Given the description of an element on the screen output the (x, y) to click on. 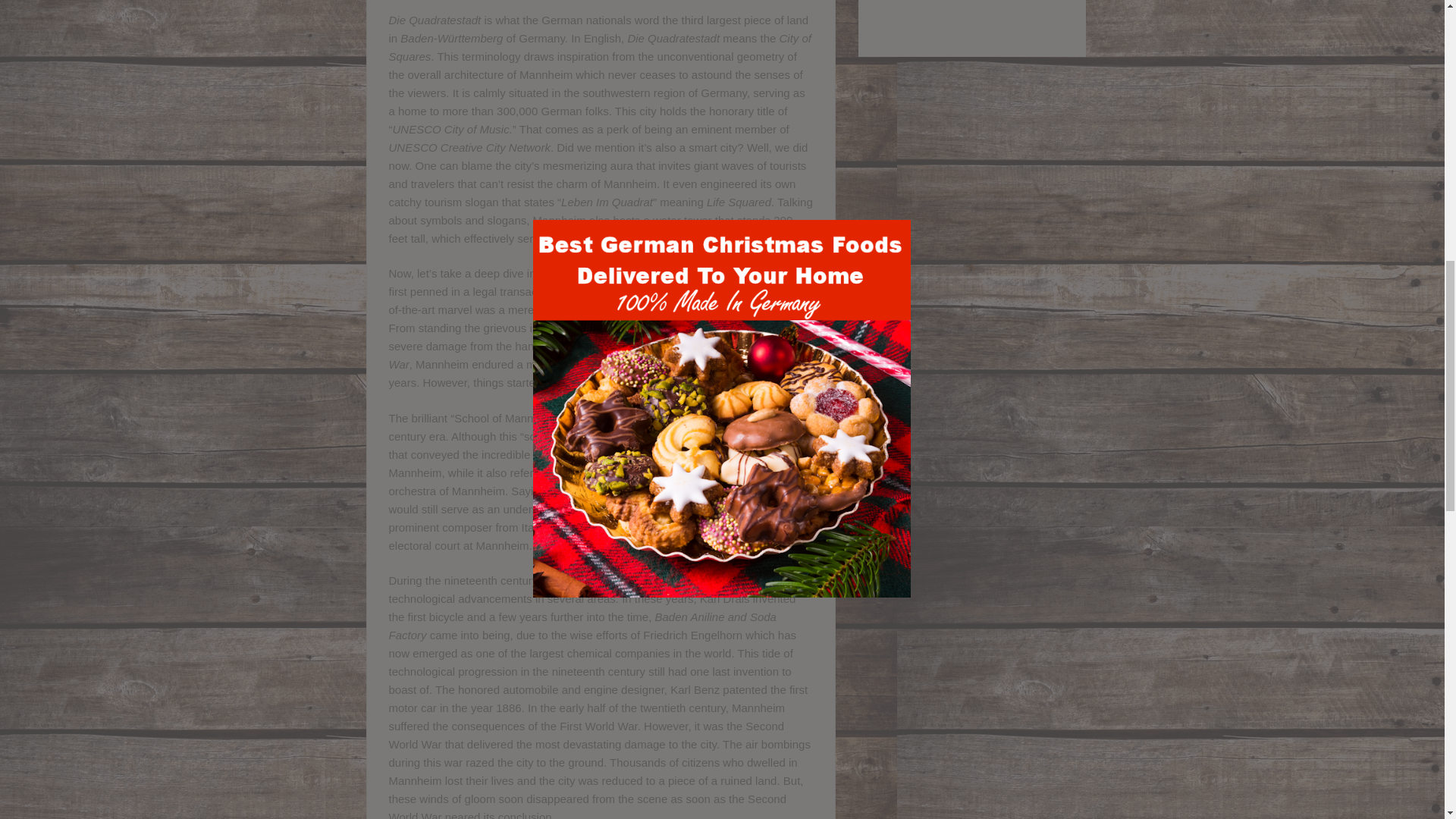
Advertisement (972, 28)
